Given the description of an element on the screen output the (x, y) to click on. 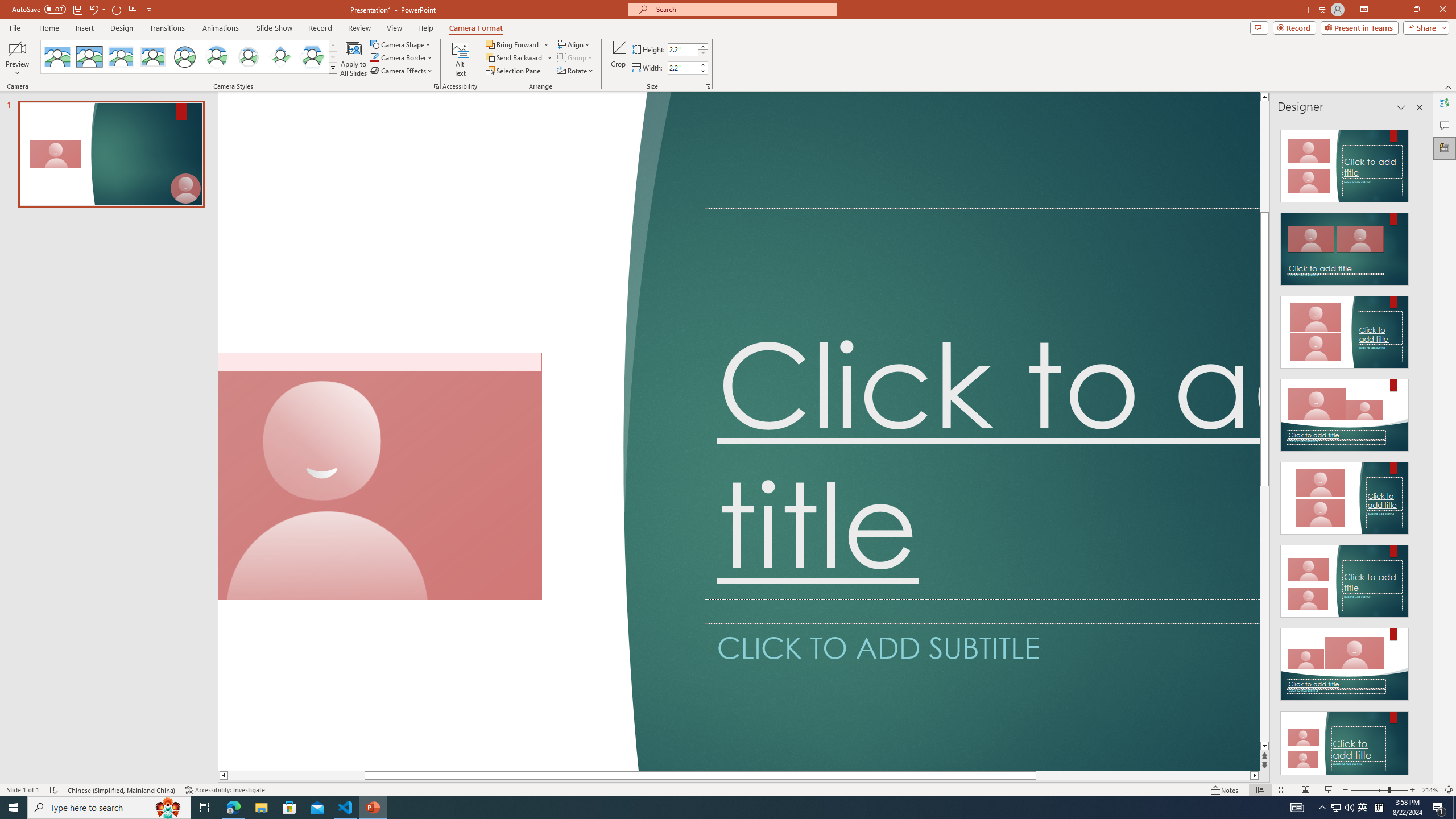
Cameo Height (682, 49)
Bring Forward (513, 44)
Camera 7, No camera detected. (380, 476)
Center Shadow Hexagon (312, 56)
AutomationID: CameoStylesGallery (189, 56)
Send Backward (518, 56)
Selection Pane... (513, 69)
